Given the description of an element on the screen output the (x, y) to click on. 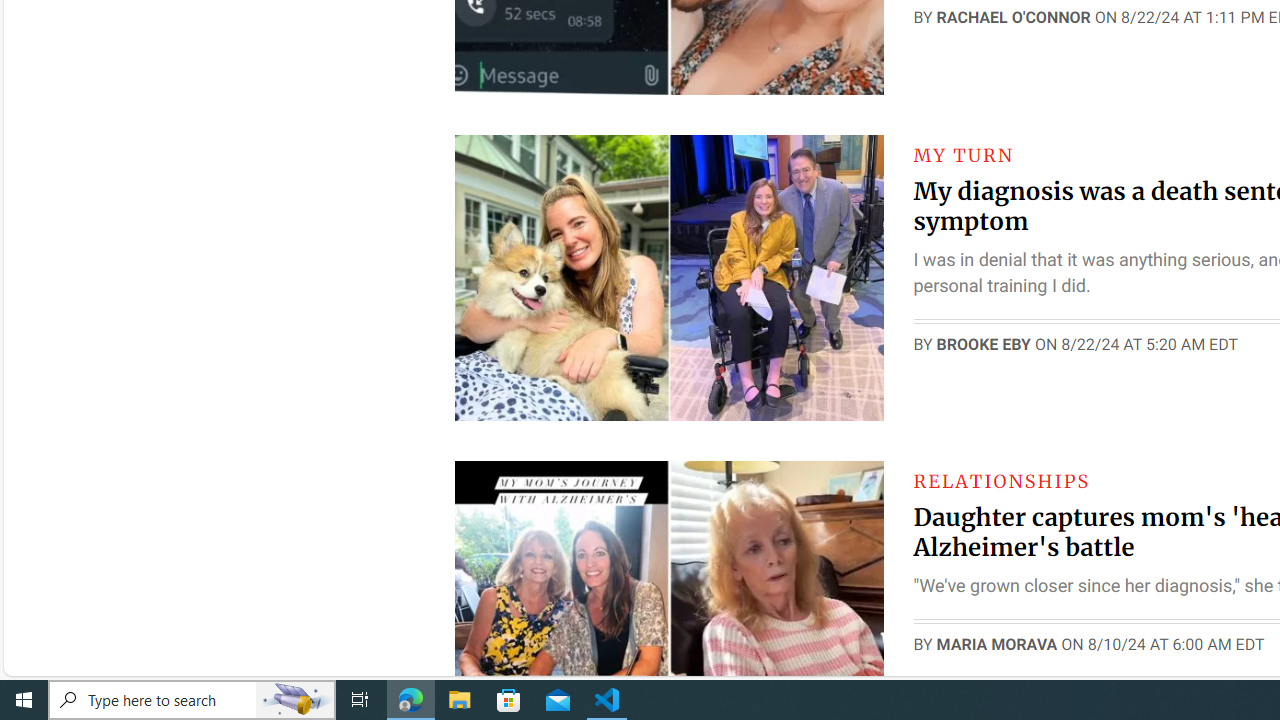
RELATIONSHIPS (1001, 480)
MY TURN (963, 155)
